Given the description of an element on the screen output the (x, y) to click on. 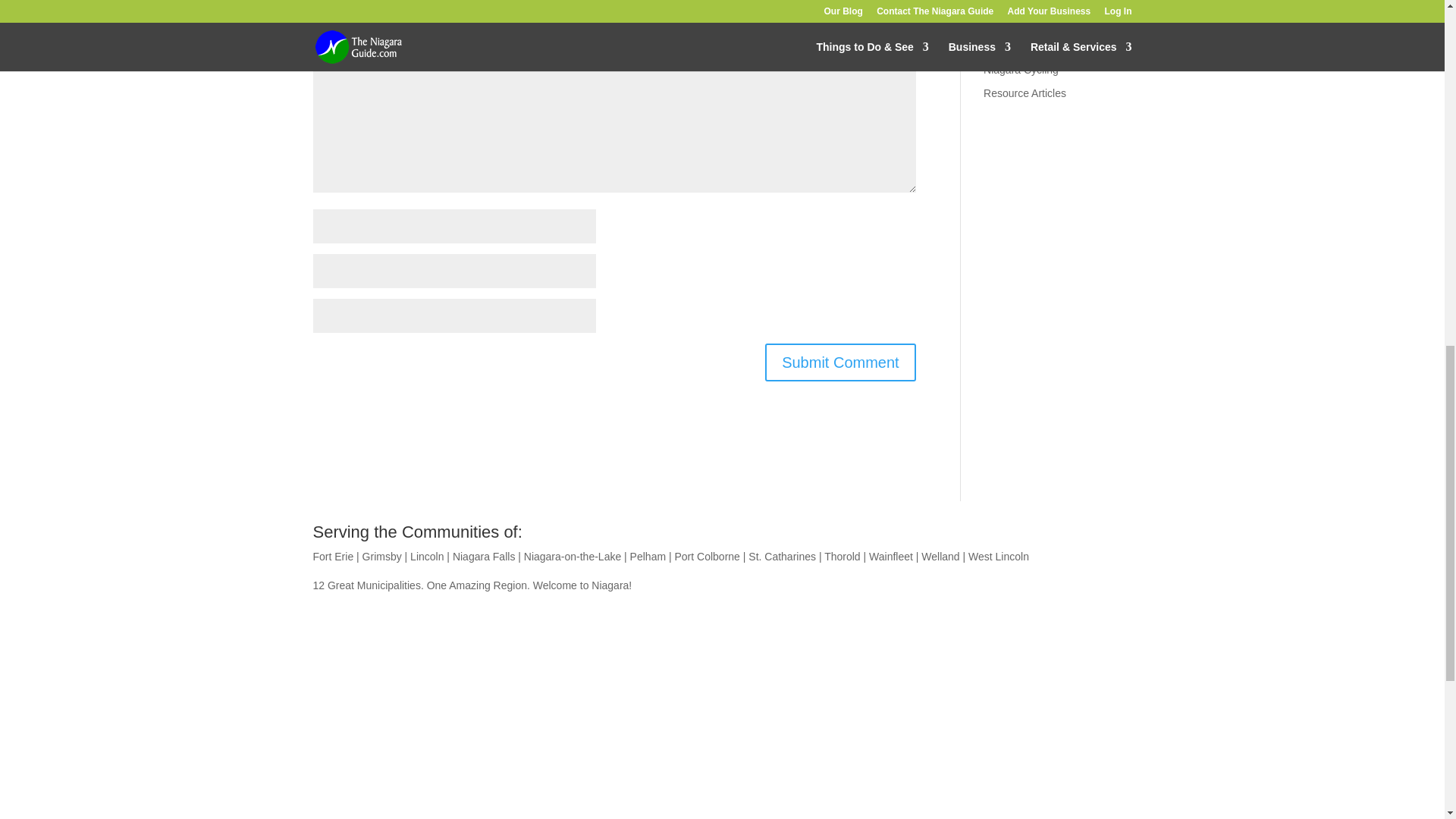
Submit Comment (840, 362)
